Given the description of an element on the screen output the (x, y) to click on. 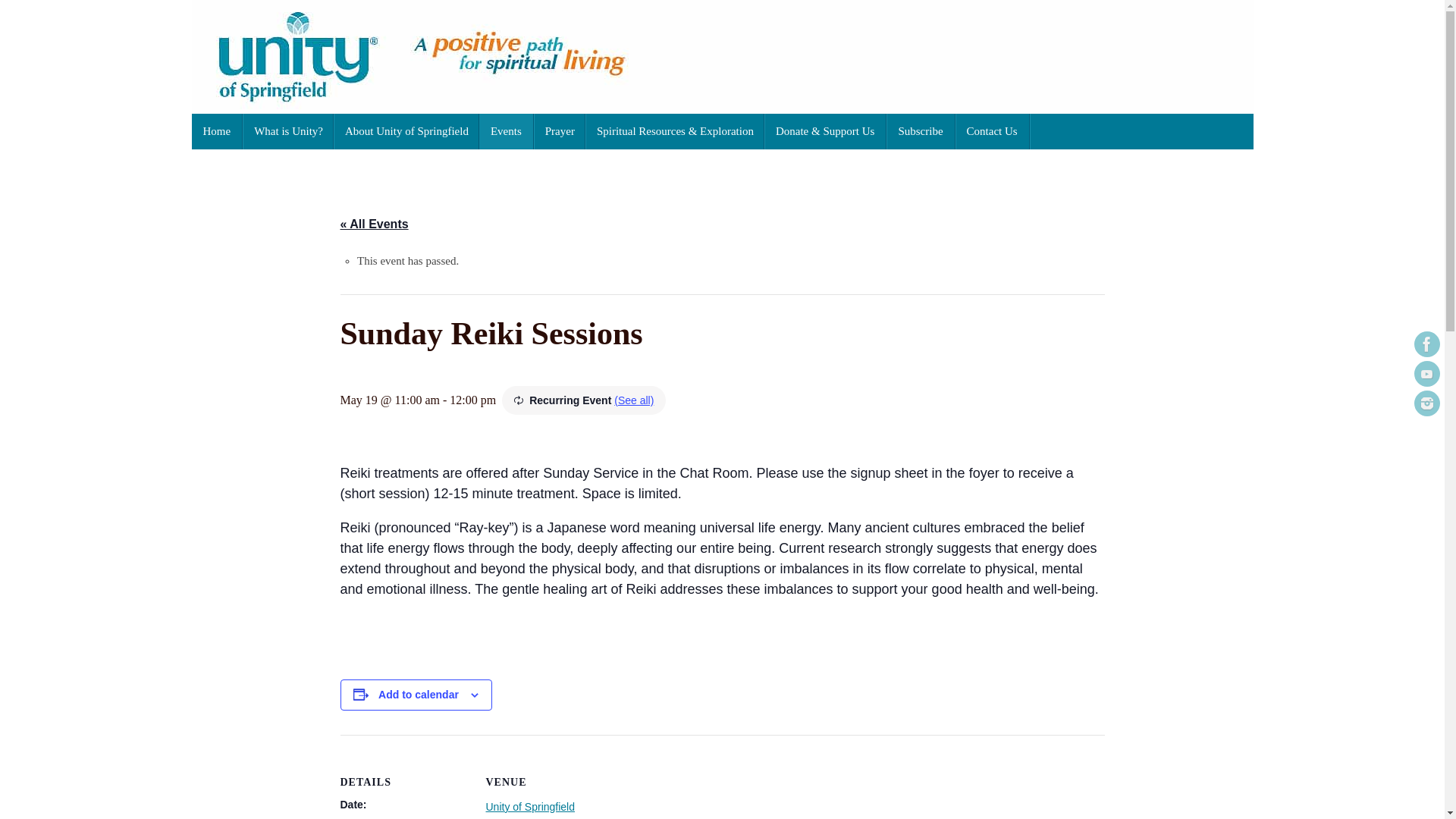
Instagram (1426, 403)
Unity of Springfield (529, 806)
Events (506, 131)
Unity of Springfield Illinois (721, 56)
Add to calendar (418, 694)
About Unity of Springfield (406, 131)
Contact Us (992, 131)
Facebook (1426, 344)
What is Unity? (288, 131)
Home (216, 131)
Subscribe (920, 131)
YouTube (1426, 373)
Prayer (559, 131)
